Given the description of an element on the screen output the (x, y) to click on. 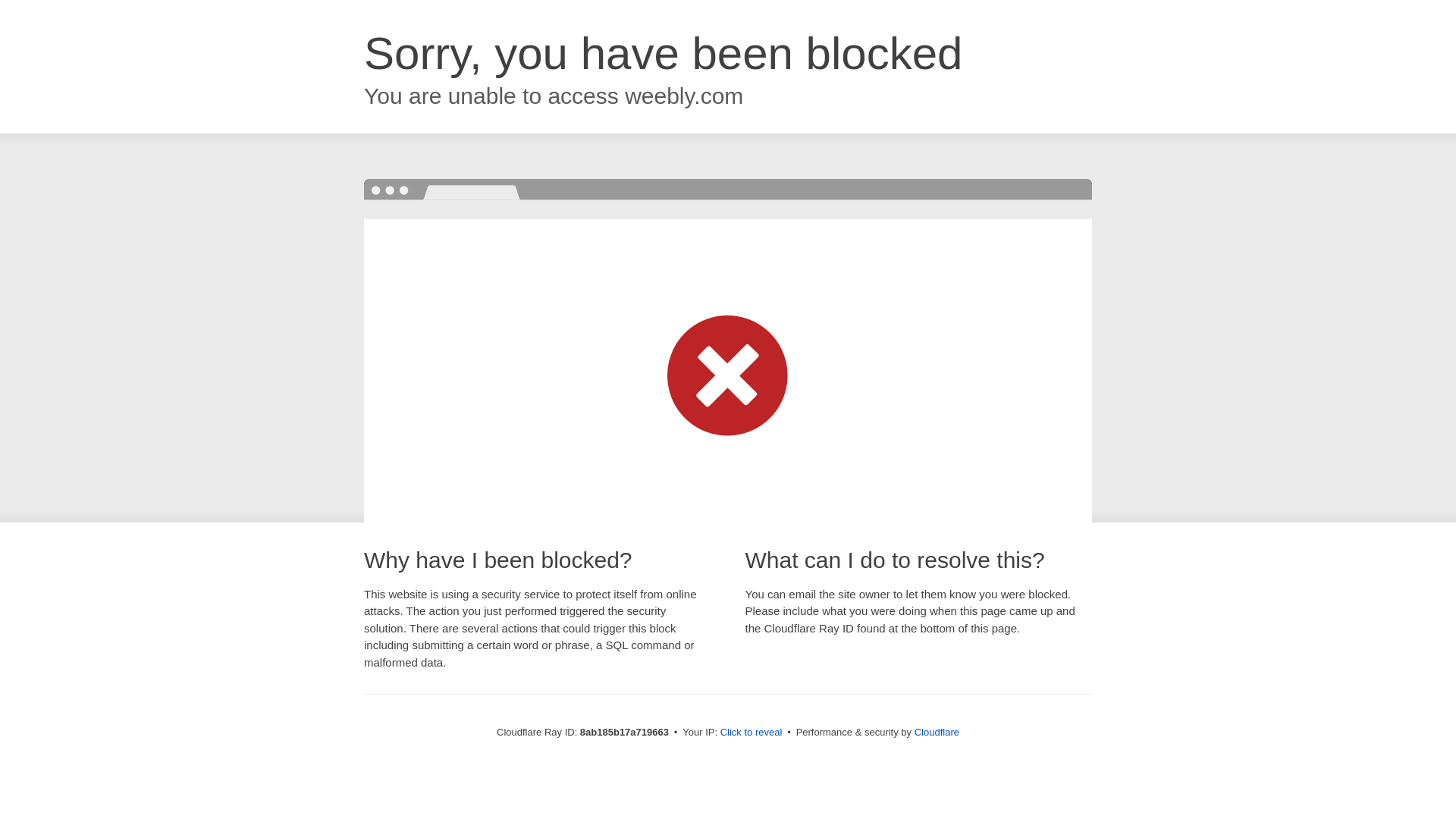
Click to reveal (751, 732)
Cloudflare (936, 731)
